Given the description of an element on the screen output the (x, y) to click on. 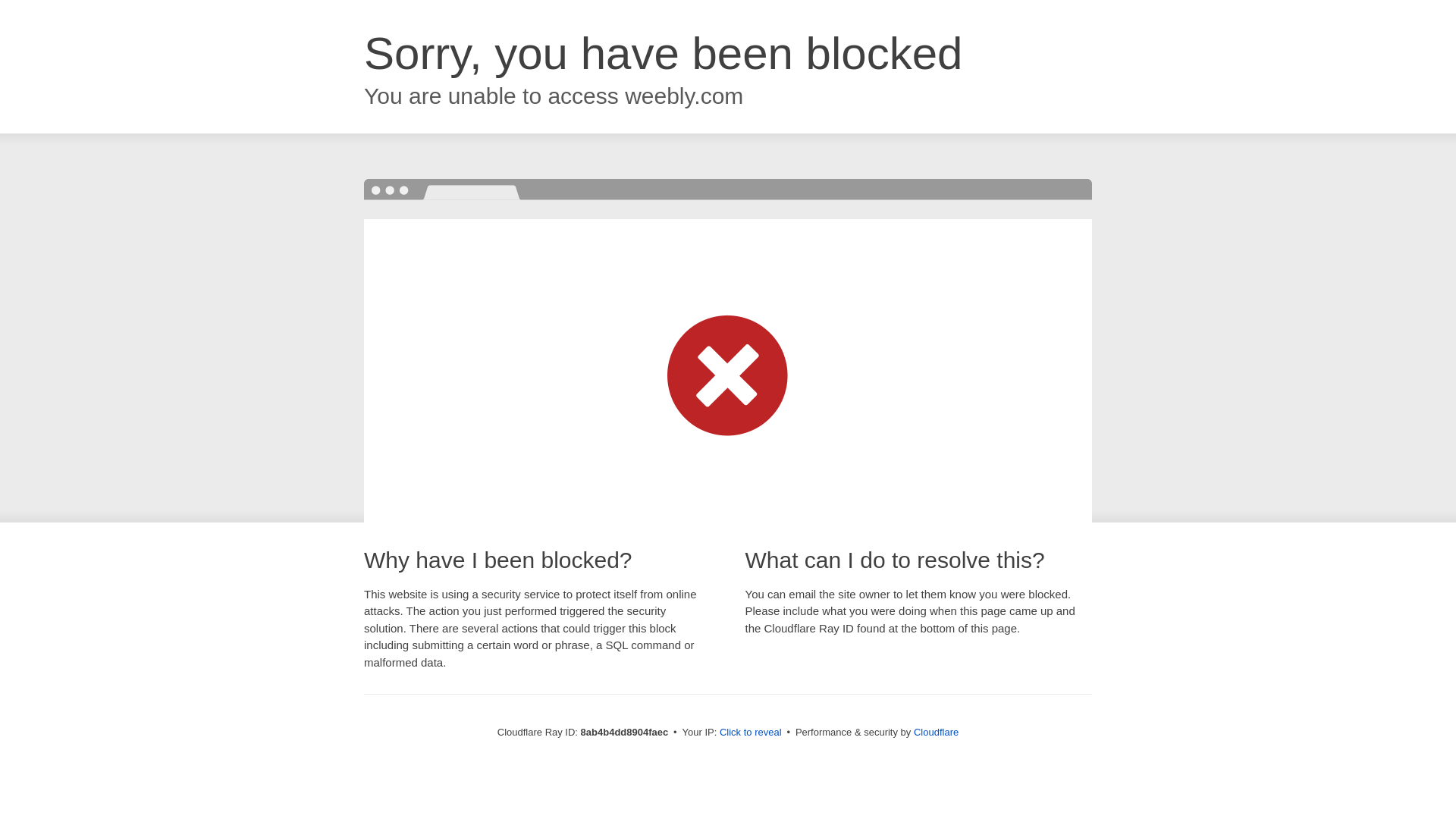
Click to reveal (750, 732)
Cloudflare (936, 731)
